Given the description of an element on the screen output the (x, y) to click on. 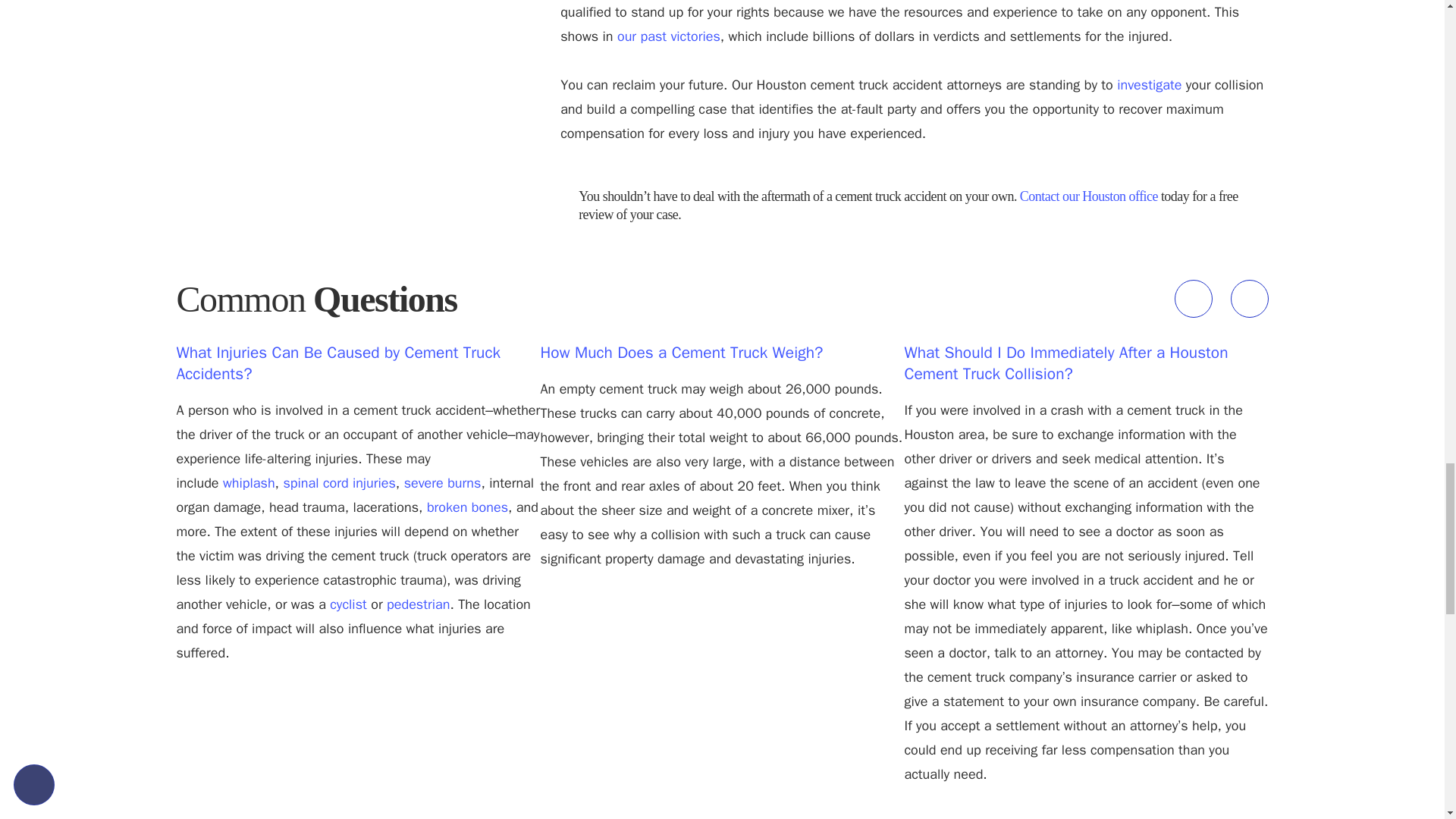
View next item (1249, 298)
View previous item (1192, 298)
